Given the description of an element on the screen output the (x, y) to click on. 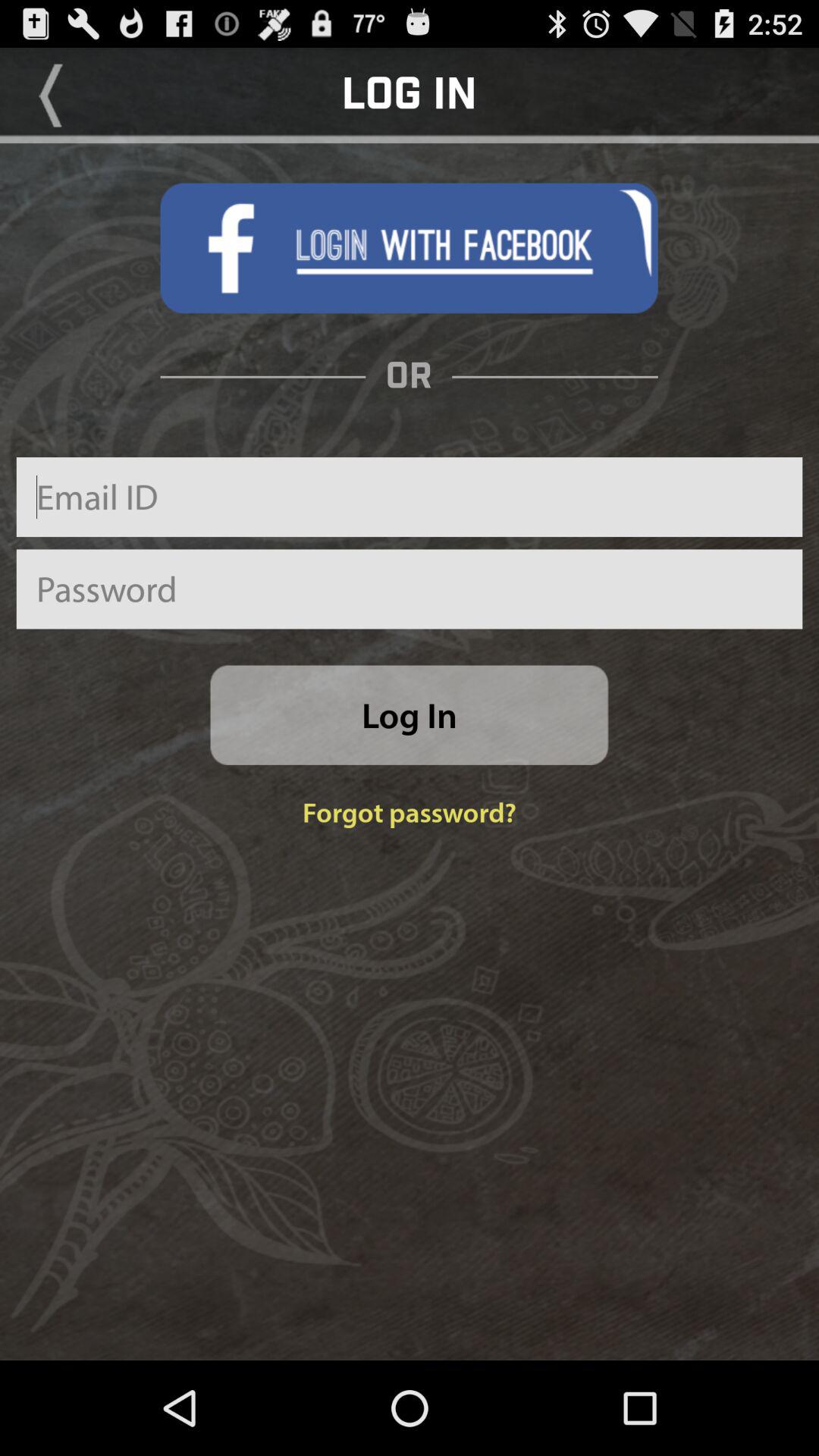
enter password (409, 589)
